Given the description of an element on the screen output the (x, y) to click on. 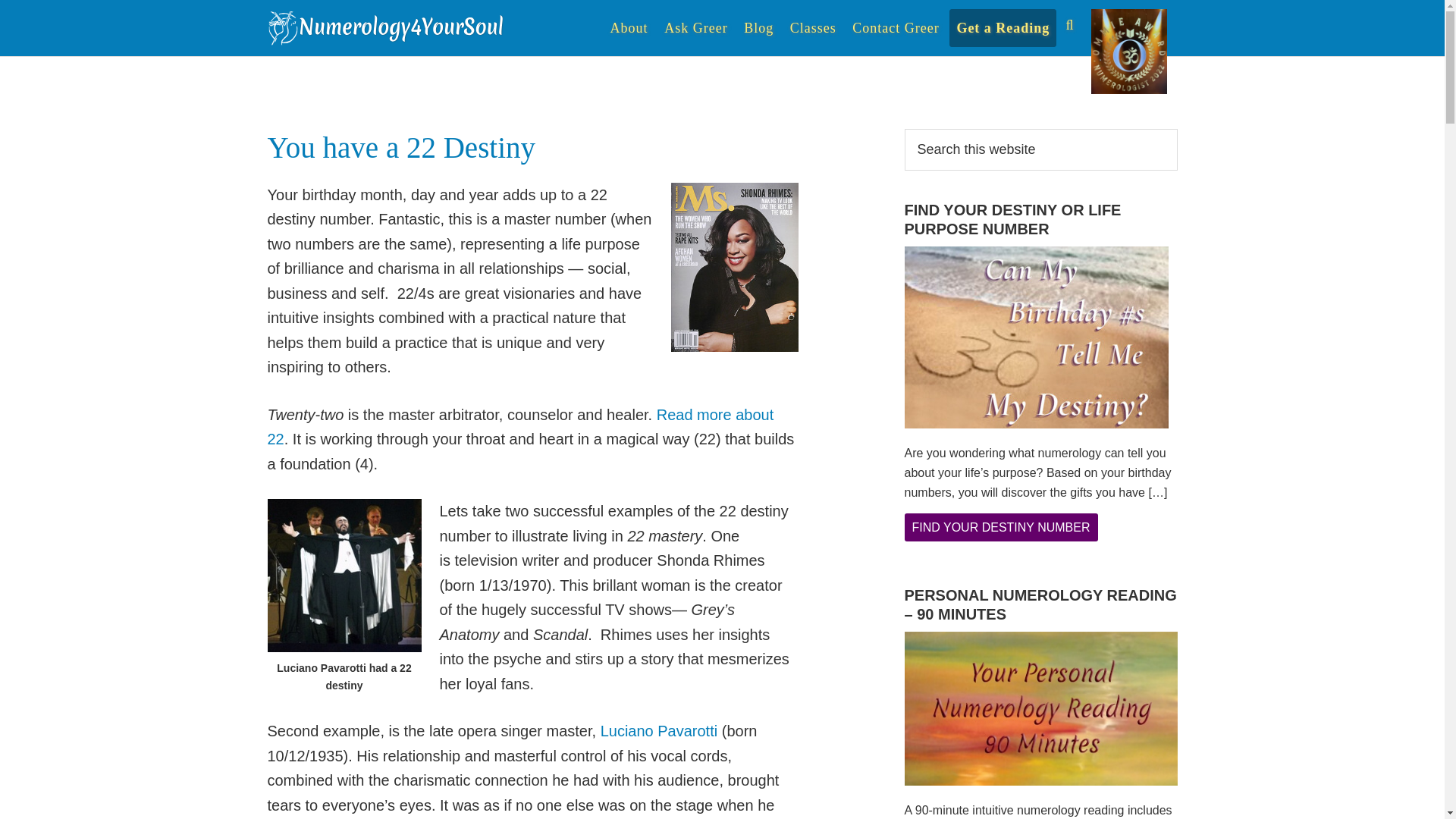
Classes (813, 27)
Luciano Pavarotti (658, 730)
Numerology4YourSoul (387, 27)
Pararotti had a 22 destiny (343, 574)
Blog (758, 27)
Contact Greer (894, 27)
About (628, 27)
Read more about 22 (519, 426)
Why is 22 a Master Number? (519, 426)
Get a Reading (1002, 27)
Ask Greer (695, 27)
